Given the description of an element on the screen output the (x, y) to click on. 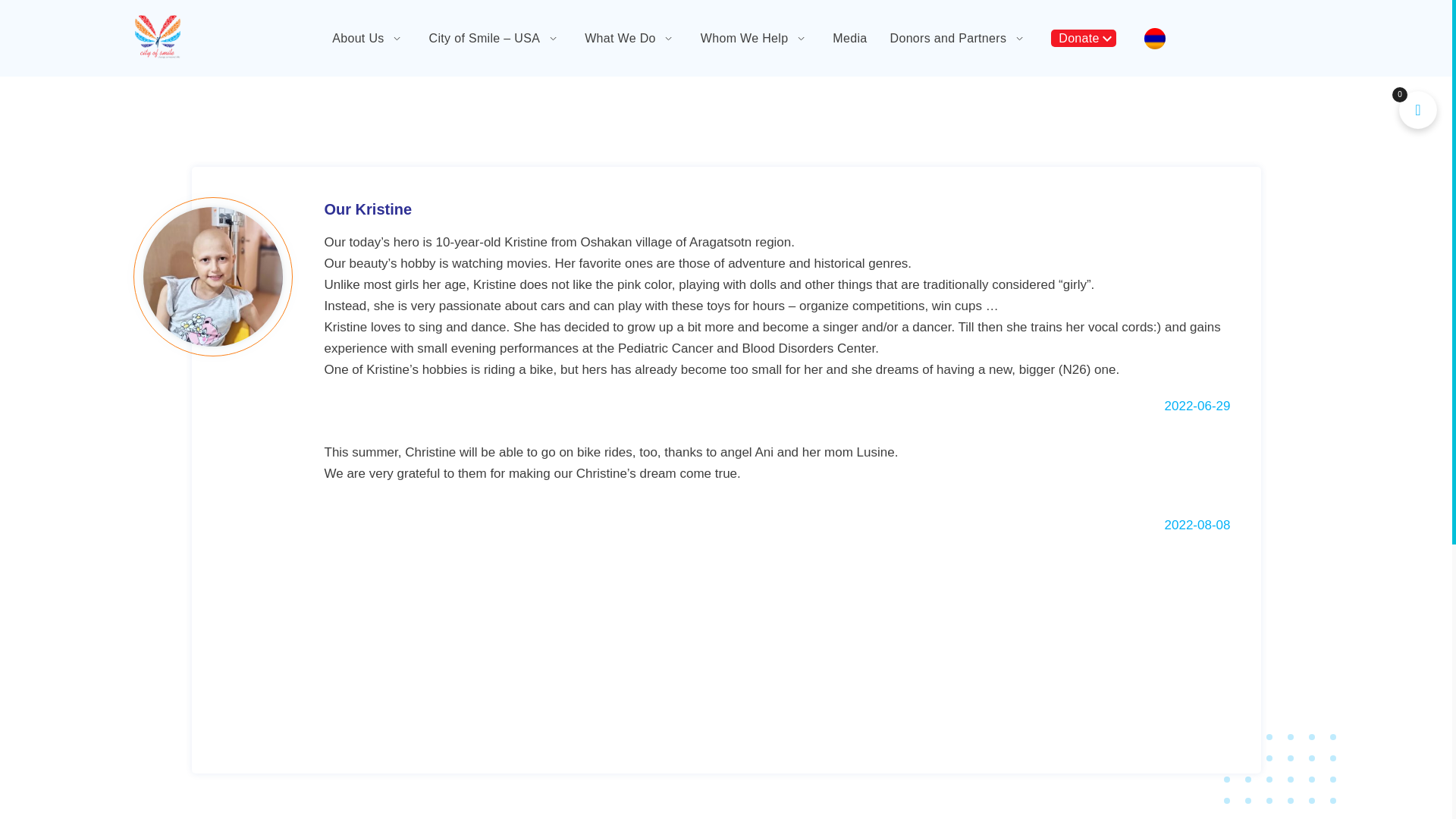
Whom We Help (744, 38)
Donate (1078, 38)
What We Do (620, 38)
Donors and Partners (948, 38)
Media (849, 38)
About Us (357, 38)
Our Kristine (777, 209)
